Given the description of an element on the screen output the (x, y) to click on. 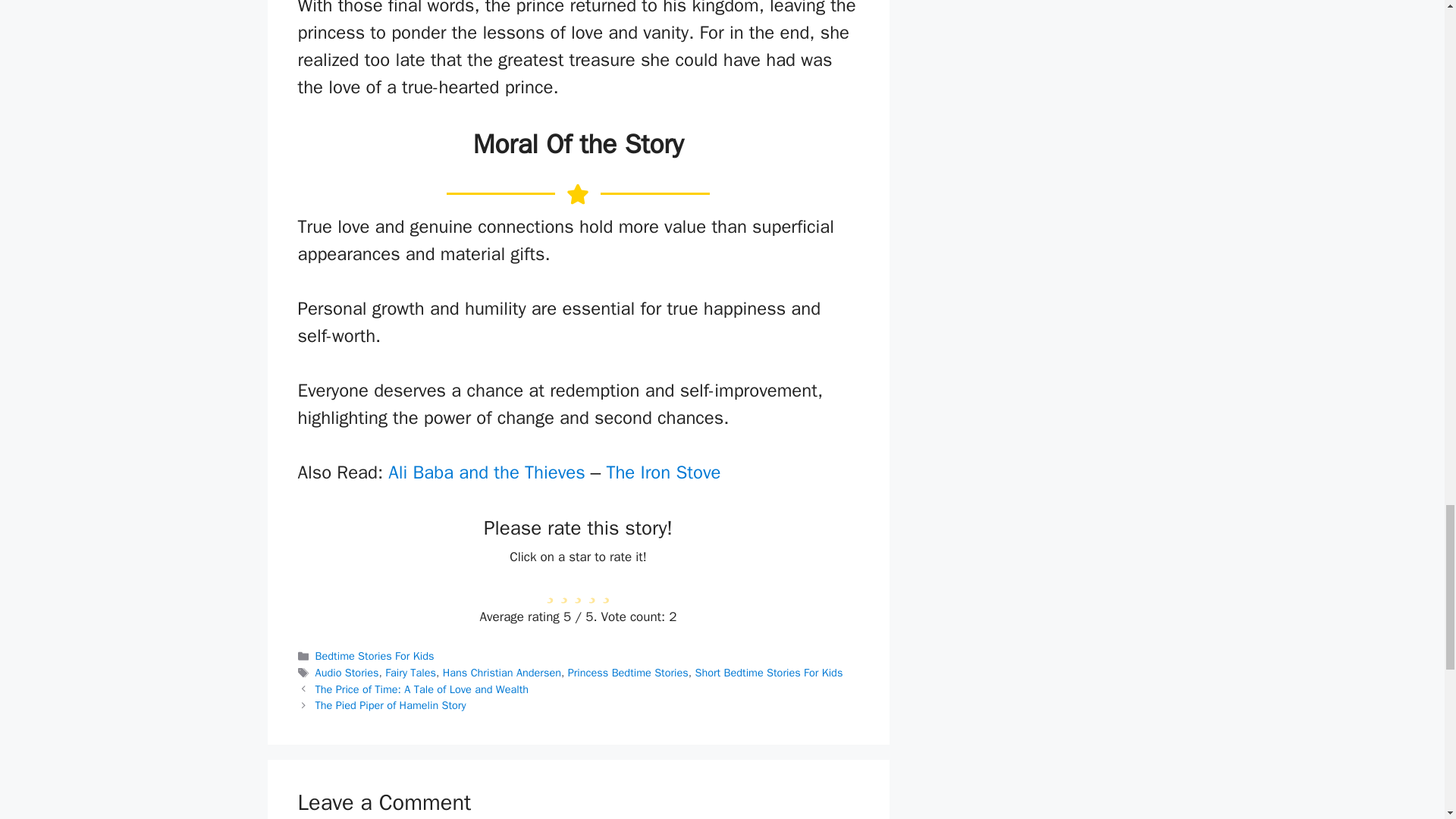
The Price of Time: A Tale of Love and Wealth (421, 689)
Bedtime Stories For Kids (374, 655)
Ali Baba and the Thieves (486, 472)
Audio Stories (346, 672)
The Pied Piper of Hamelin Story (390, 704)
The Iron Stove (662, 472)
Short Bedtime Stories For Kids (768, 672)
Princess Bedtime Stories (627, 672)
Fairy Tales (410, 672)
Hans Christian Andersen (501, 672)
